Given the description of an element on the screen output the (x, y) to click on. 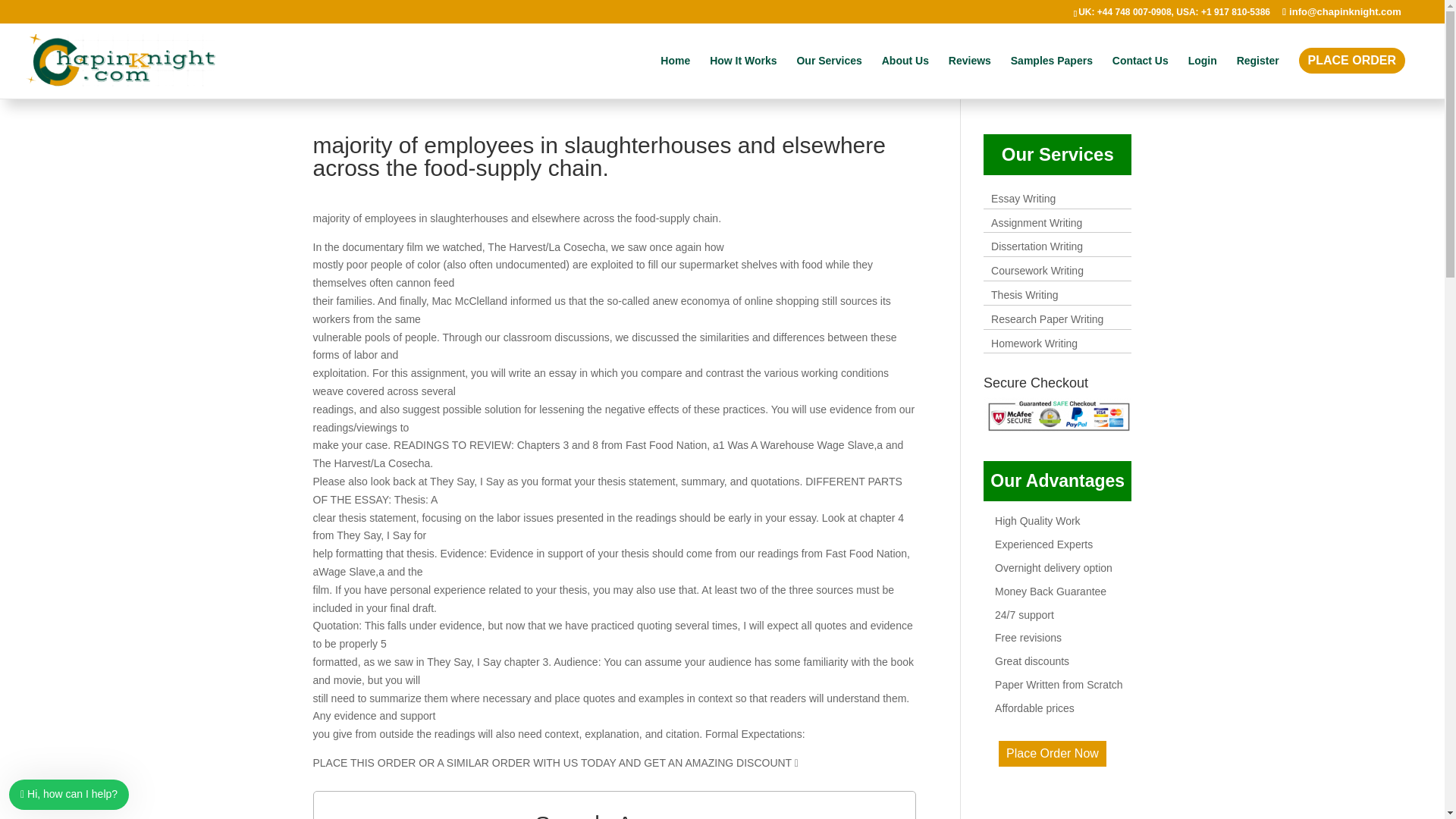
Order Now (1052, 753)
Dissertation Writing Services (1037, 246)
Essay Writing (1023, 198)
Assignment Writing Services (1036, 223)
Dissertation Writing (1037, 246)
Research Paper Writing Services (1047, 318)
Reviews (970, 72)
Coursework Writing (1037, 270)
Research Paper Writing (1047, 318)
Homework Writing (1034, 343)
